Given the description of an element on the screen output the (x, y) to click on. 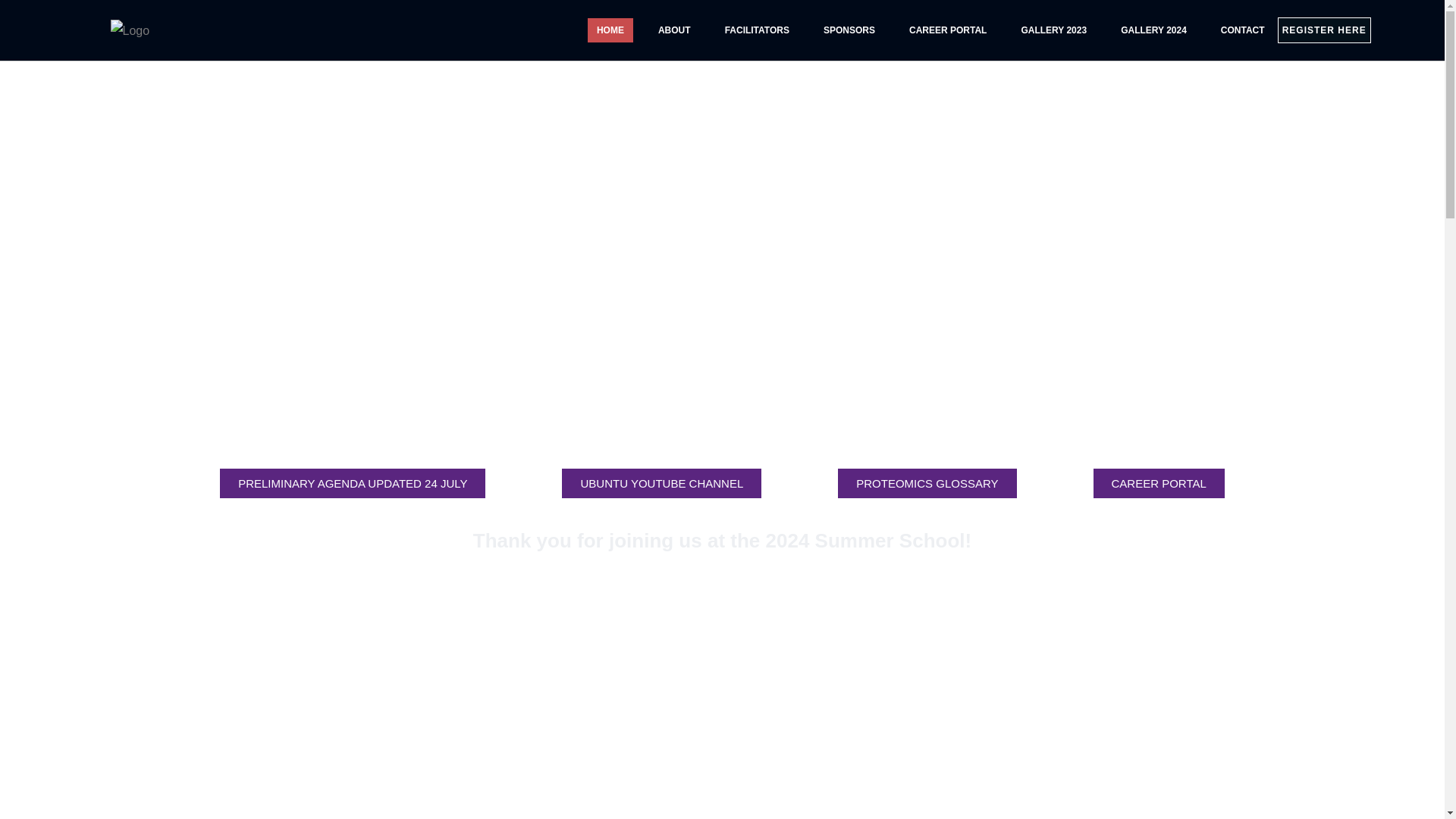
CONTACT (1242, 30)
Logo (129, 30)
CAREER PORTAL (1159, 482)
HOME (610, 30)
ABOUT (674, 30)
SPONSORS (848, 30)
GALLERY 2023 (1053, 30)
PROTEOMICS GLOSSARY (926, 482)
CAREER PORTAL (947, 30)
UBUNTU YOUTUBE CHANNEL (660, 482)
PRELIMINARY AGENDA UPDATED 24 JULY (352, 482)
GALLERY 2024 (1153, 30)
FACILITATORS (756, 30)
REGISTER HERE (1324, 30)
